Given the description of an element on the screen output the (x, y) to click on. 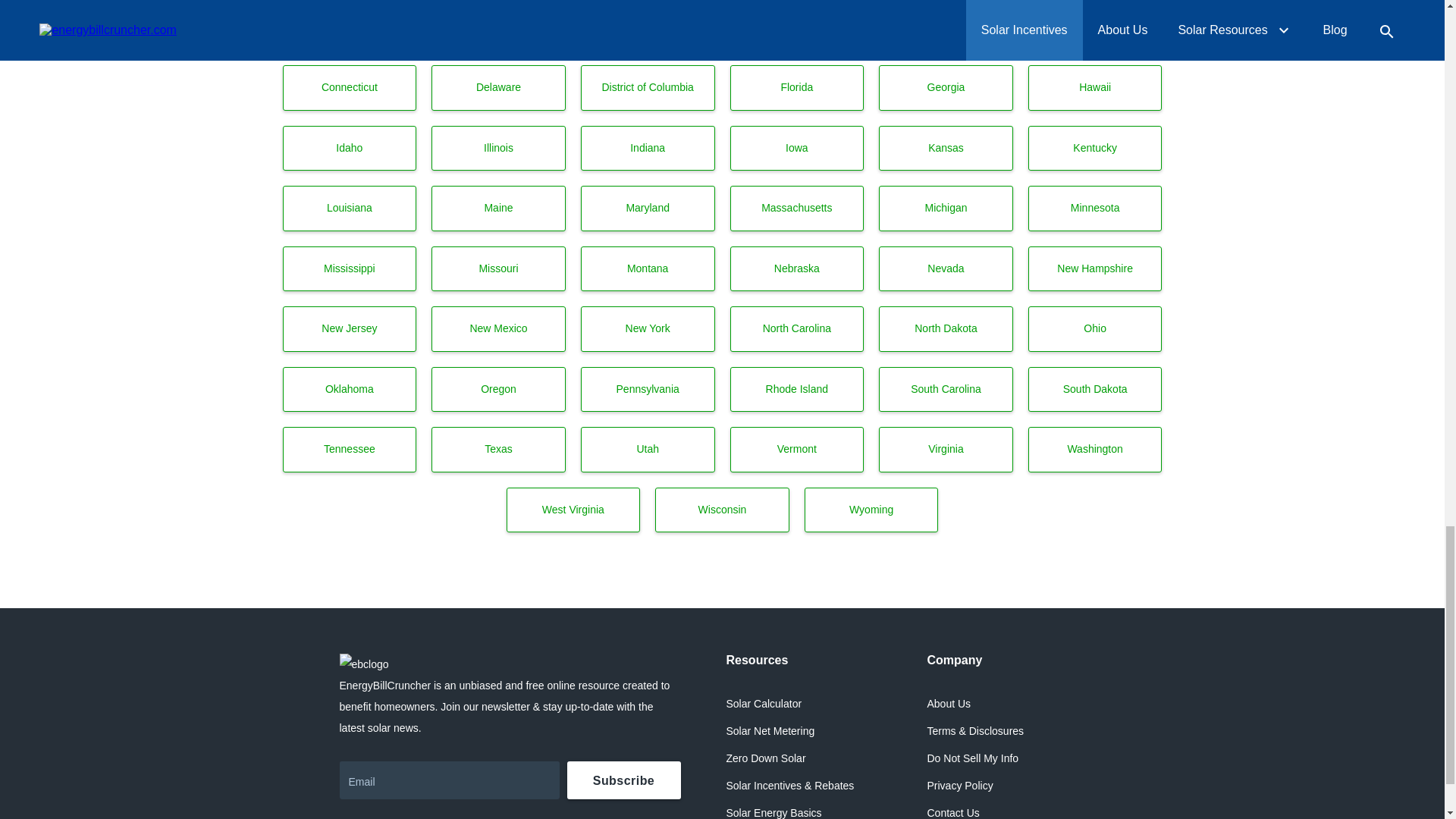
California (946, 27)
Illinois (498, 148)
Arizona (647, 27)
Delaware (498, 87)
Alabama (349, 27)
Maine (498, 207)
Alaska (498, 27)
Maryland (647, 207)
Connecticut (349, 87)
Michigan (946, 207)
Idaho (349, 148)
Louisiana (349, 207)
Hawaii (1094, 87)
District of Columbia (647, 87)
Florida (796, 87)
